Given the description of an element on the screen output the (x, y) to click on. 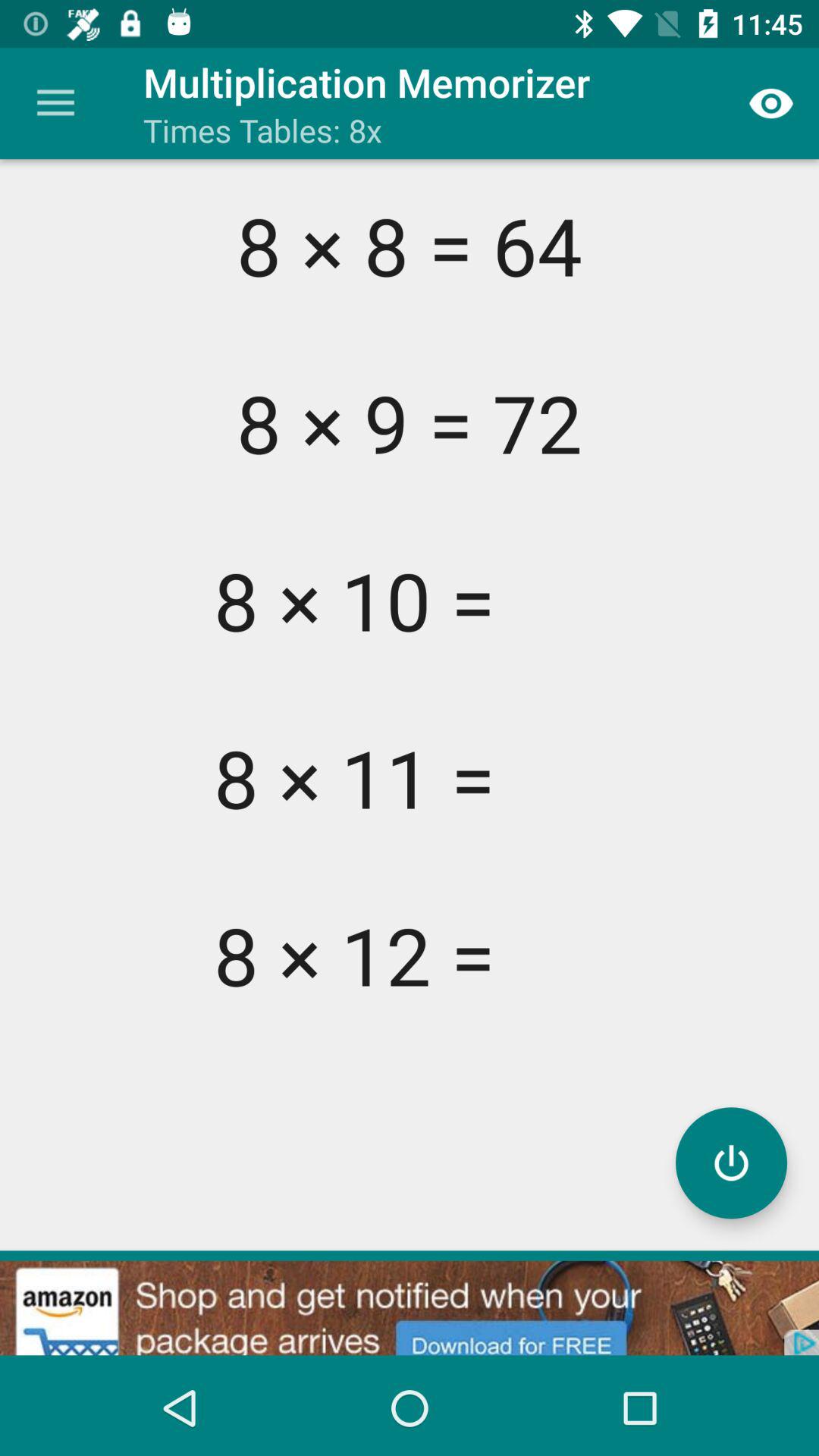
go to stop (731, 1162)
